Given the description of an element on the screen output the (x, y) to click on. 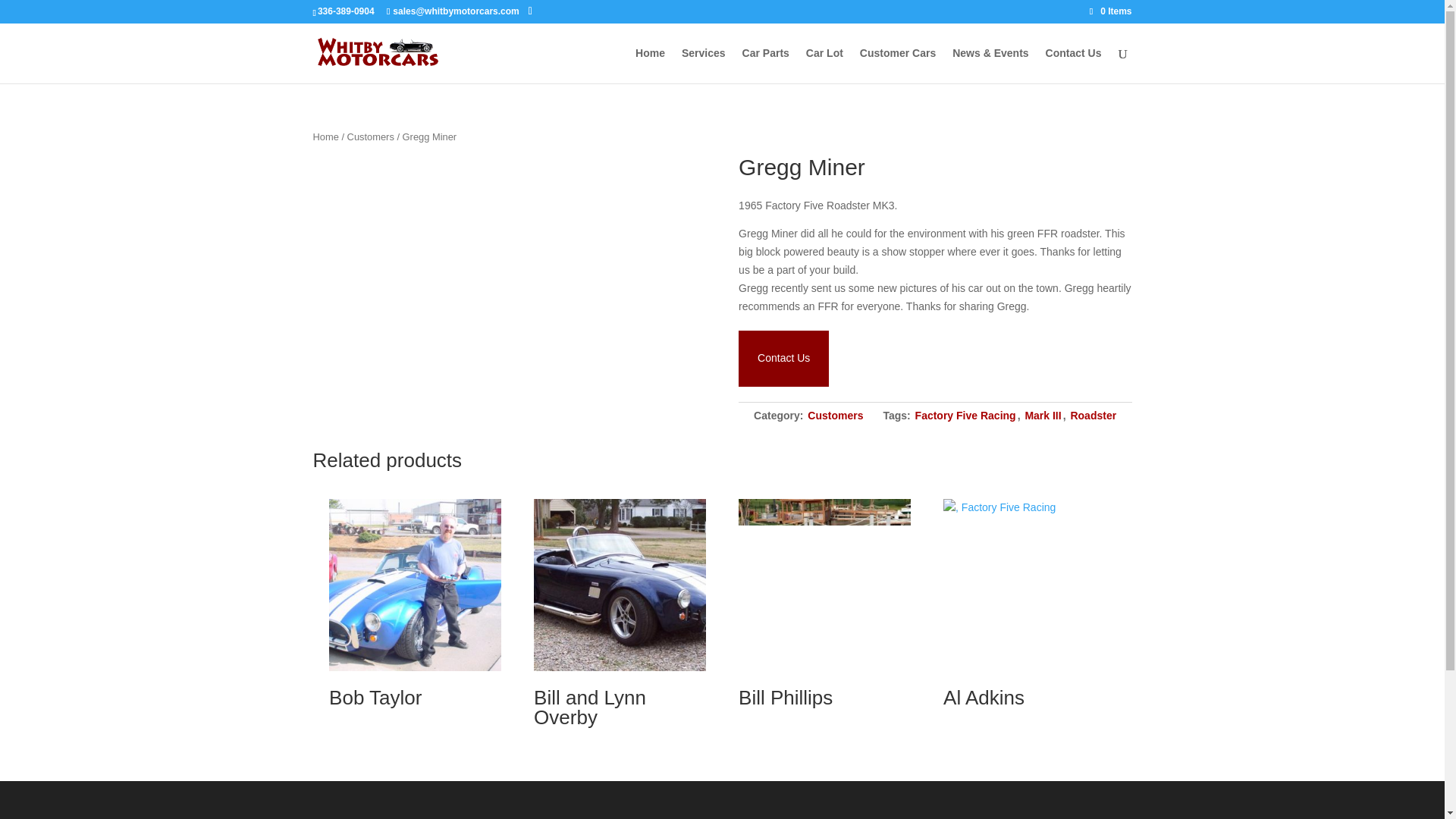
Services (703, 65)
Contact Us (1073, 65)
Customers (835, 415)
Car Lot (824, 65)
Customer Cars (898, 65)
Roadster (1093, 415)
Contact us about your custom car or part request! (783, 357)
33 hot rod,  33 Hot Rod, Factory Five Racing (824, 584)
Home (325, 136)
dsc04019,  Factory Five Racing, Mark III, Roadster (414, 584)
